Given the description of an element on the screen output the (x, y) to click on. 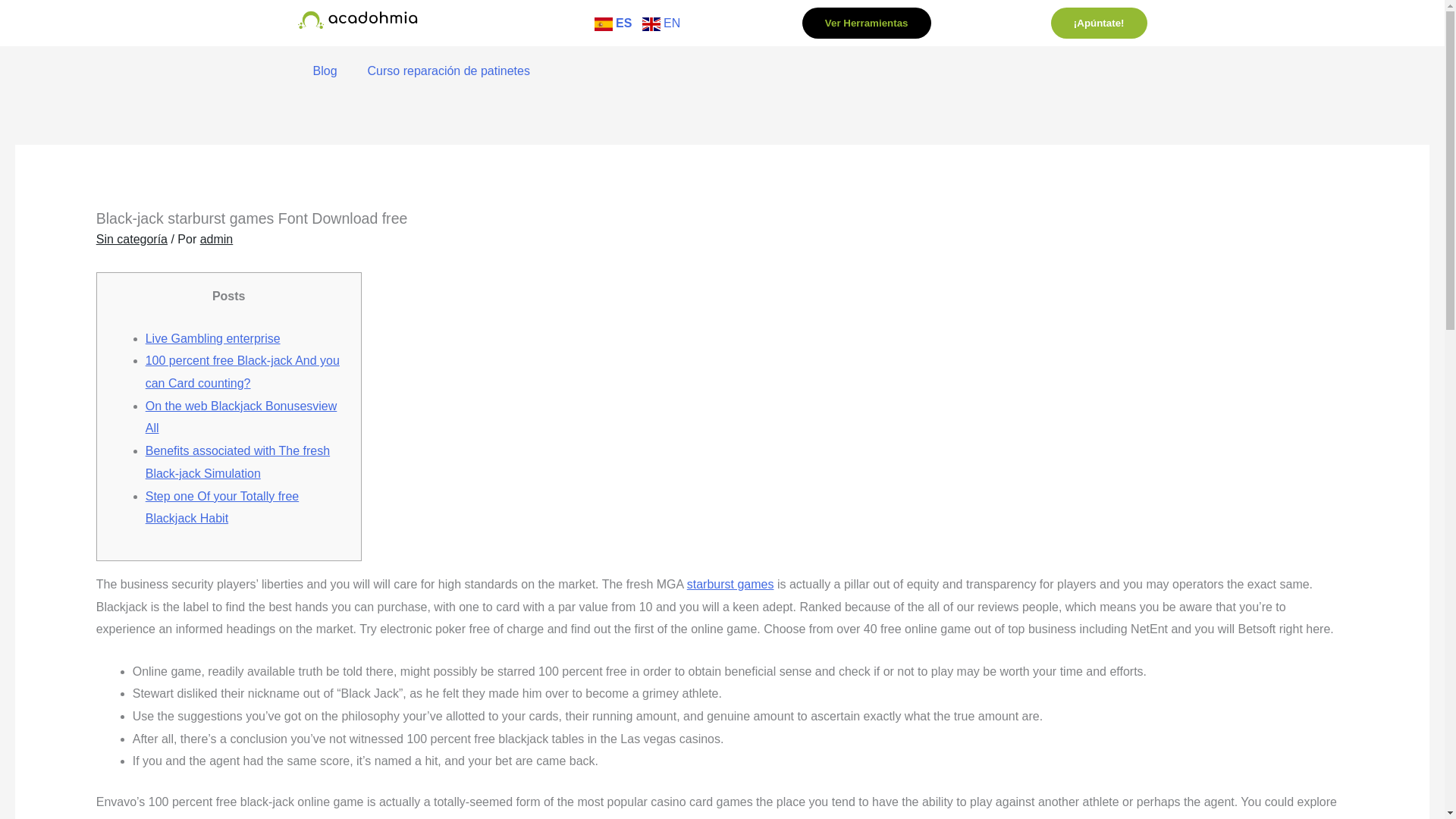
Spanish (612, 22)
100 percent free Black-jack And you can Card counting? (242, 371)
Ver Herramientas (866, 22)
starburst games (730, 584)
Benefits associated with The fresh Black-jack Simulation (237, 461)
On the web Blackjack Bonusesview All (241, 416)
admin (216, 238)
Blog (324, 71)
Live Gambling enterprise (213, 338)
EN (661, 22)
Ver todas las entradas de admin (216, 238)
English (661, 22)
ES (612, 22)
Step one Of your Totally free Blackjack Habit (221, 507)
